Given the description of an element on the screen output the (x, y) to click on. 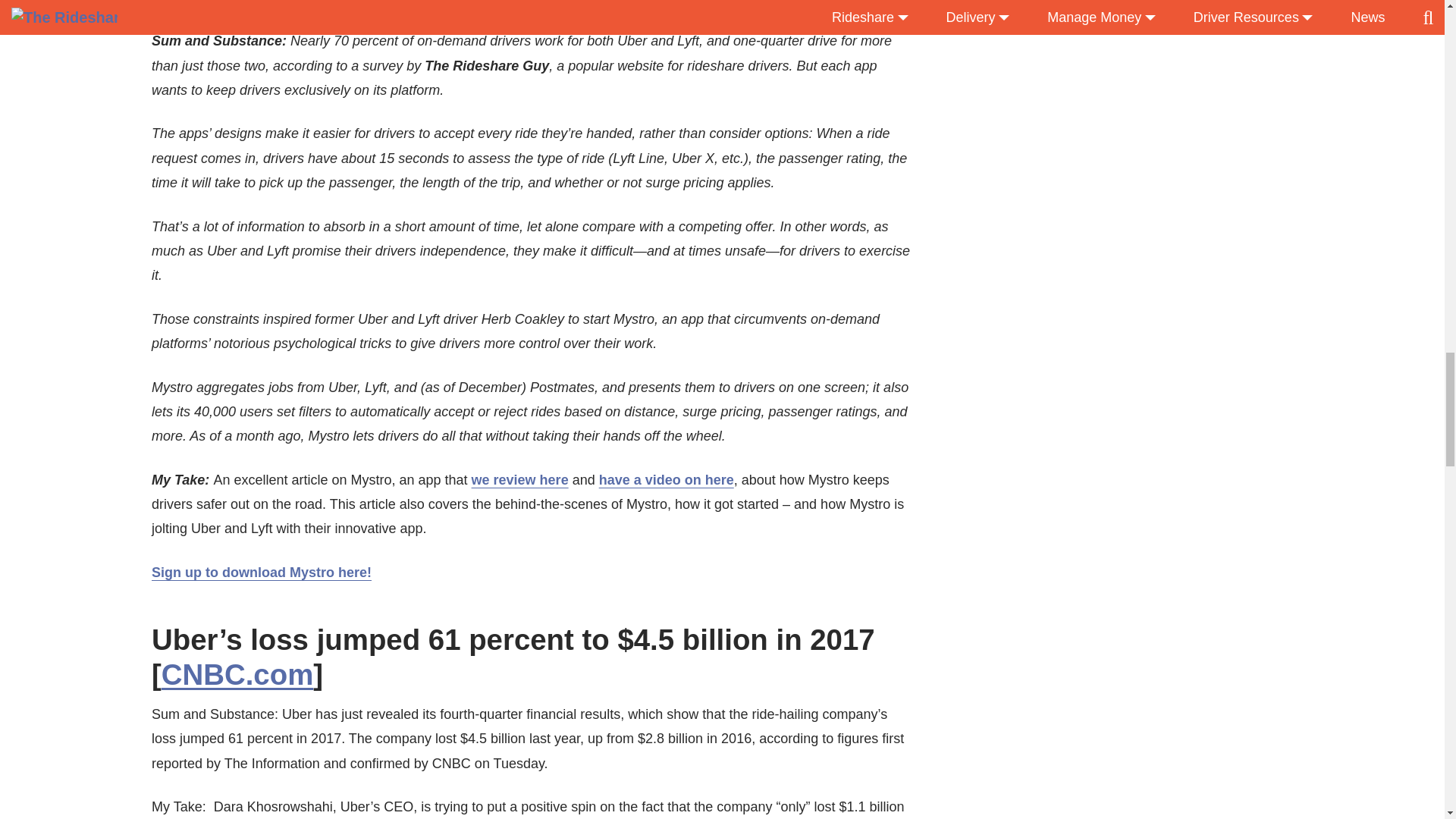
WIRED (287, 9)
we review here (520, 479)
CNBC.com (237, 674)
have a video on here (665, 479)
Sign up to download Mystro here! (261, 572)
